Given the description of an element on the screen output the (x, y) to click on. 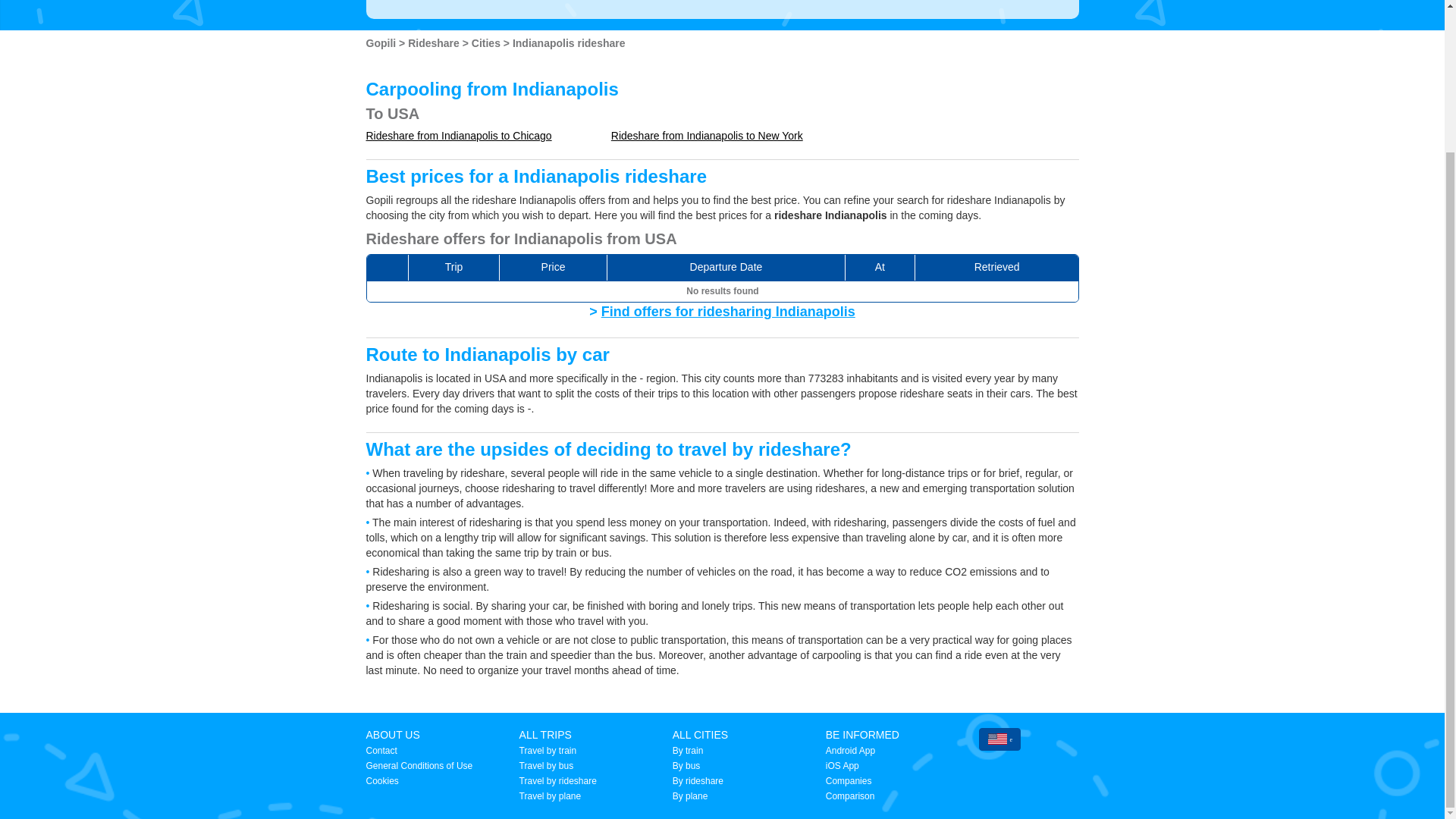
Gopili (381, 42)
By bus (686, 765)
Cookies (381, 780)
Travel by bus (546, 765)
General Conditions of Use (418, 765)
By plane (689, 796)
Rideshare (435, 42)
Companies (848, 780)
Cities (487, 42)
By rideshare (697, 780)
